Given the description of an element on the screen output the (x, y) to click on. 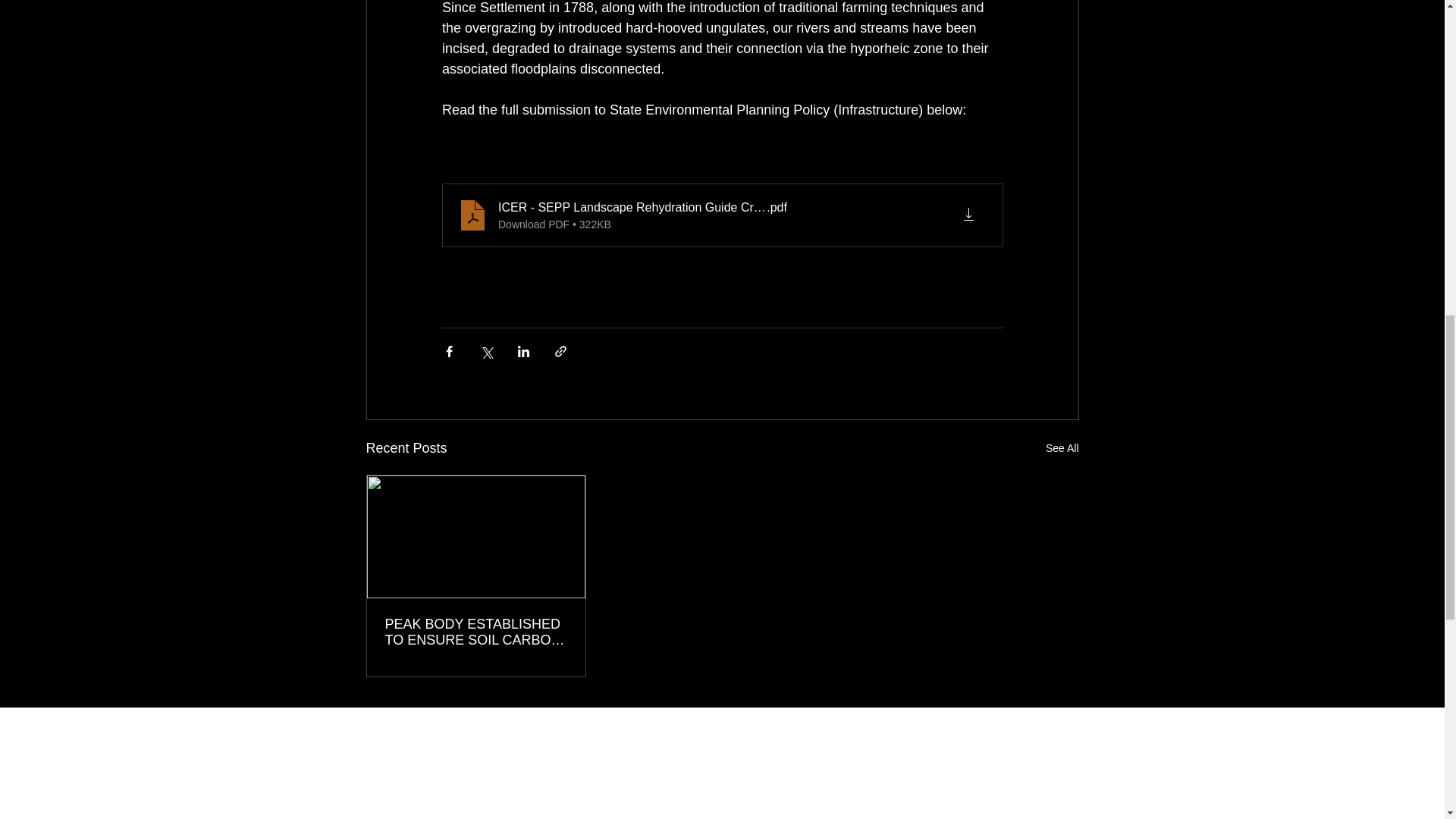
See All (1061, 448)
